Given the description of an element on the screen output the (x, y) to click on. 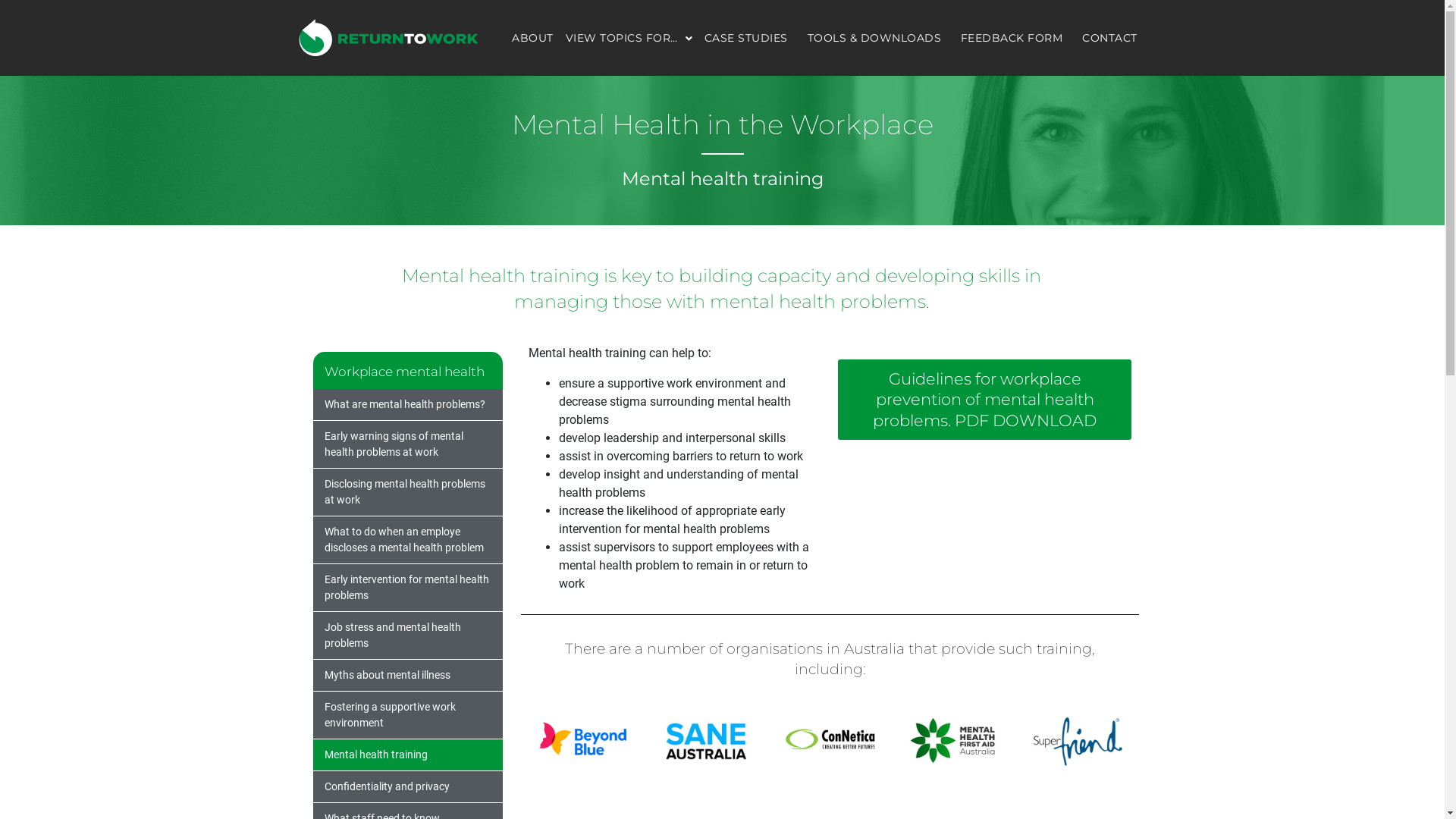
Early intervention for mental health problems Element type: text (407, 587)
Mental health training Element type: text (407, 754)
Confidentiality and privacy Element type: text (407, 786)
TOOLS & DOWNLOADS Element type: text (873, 37)
Job stress and mental health problems Element type: text (407, 634)
CONTACT Element type: text (1109, 37)
CASE STUDIES Element type: text (745, 37)
Early warning signs of mental health problems at work Element type: text (407, 443)
What to do when an employe discloses a mental health problem Element type: text (407, 539)
FEEDBACK FORM Element type: text (1011, 37)
ABOUT Element type: text (532, 37)
Fostering a supportive work environment Element type: text (407, 714)
Myths about mental illness Element type: text (407, 674)
What are mental health problems? Element type: text (407, 404)
Disclosing mental health problems at work Element type: text (407, 491)
